Given the description of an element on the screen output the (x, y) to click on. 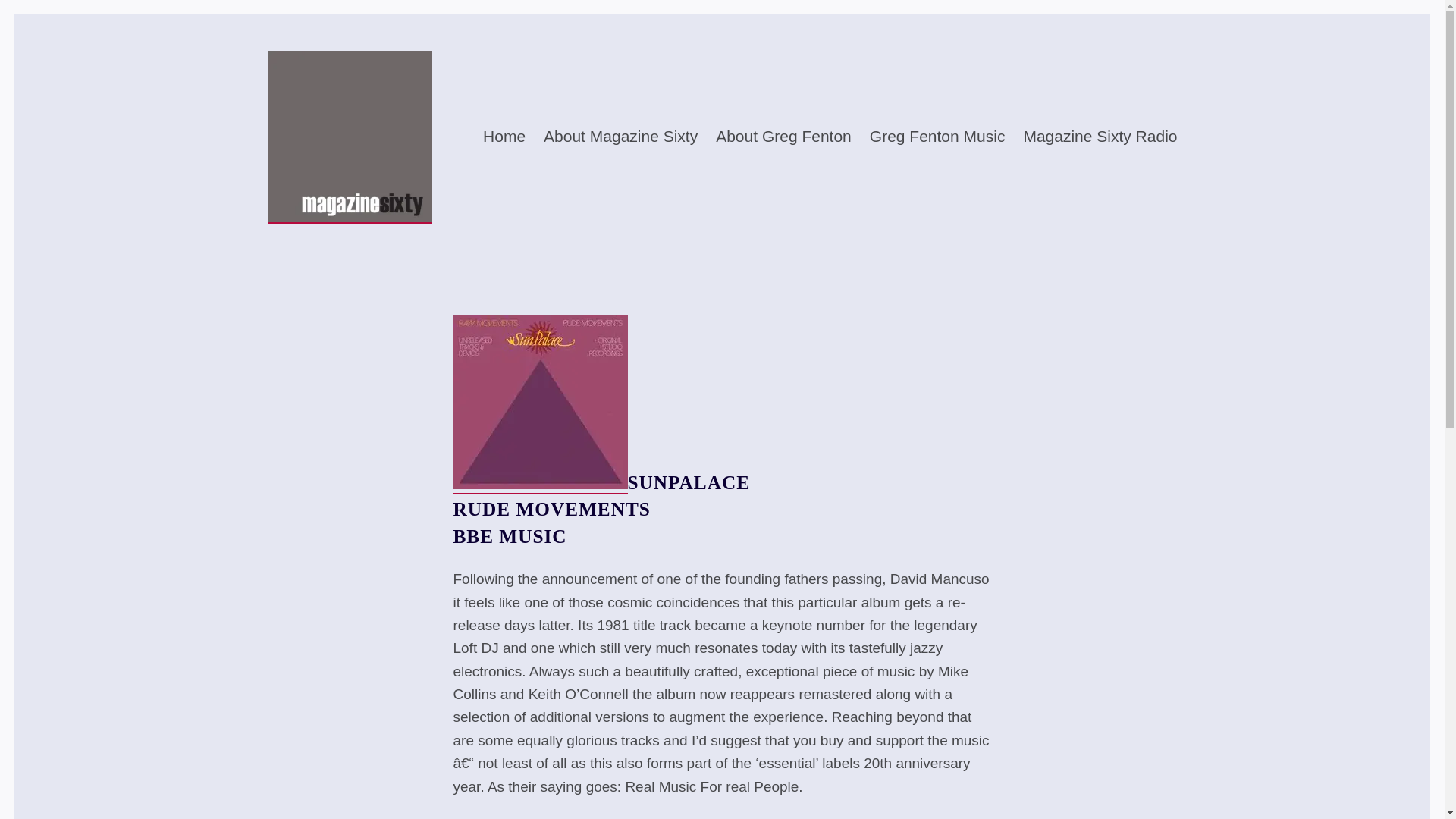
Magazine Sixty Radio (1099, 136)
About Magazine Sixty (620, 136)
Home (504, 136)
Greg Fenton Music (937, 136)
About Greg Fenton (783, 136)
